Given the description of an element on the screen output the (x, y) to click on. 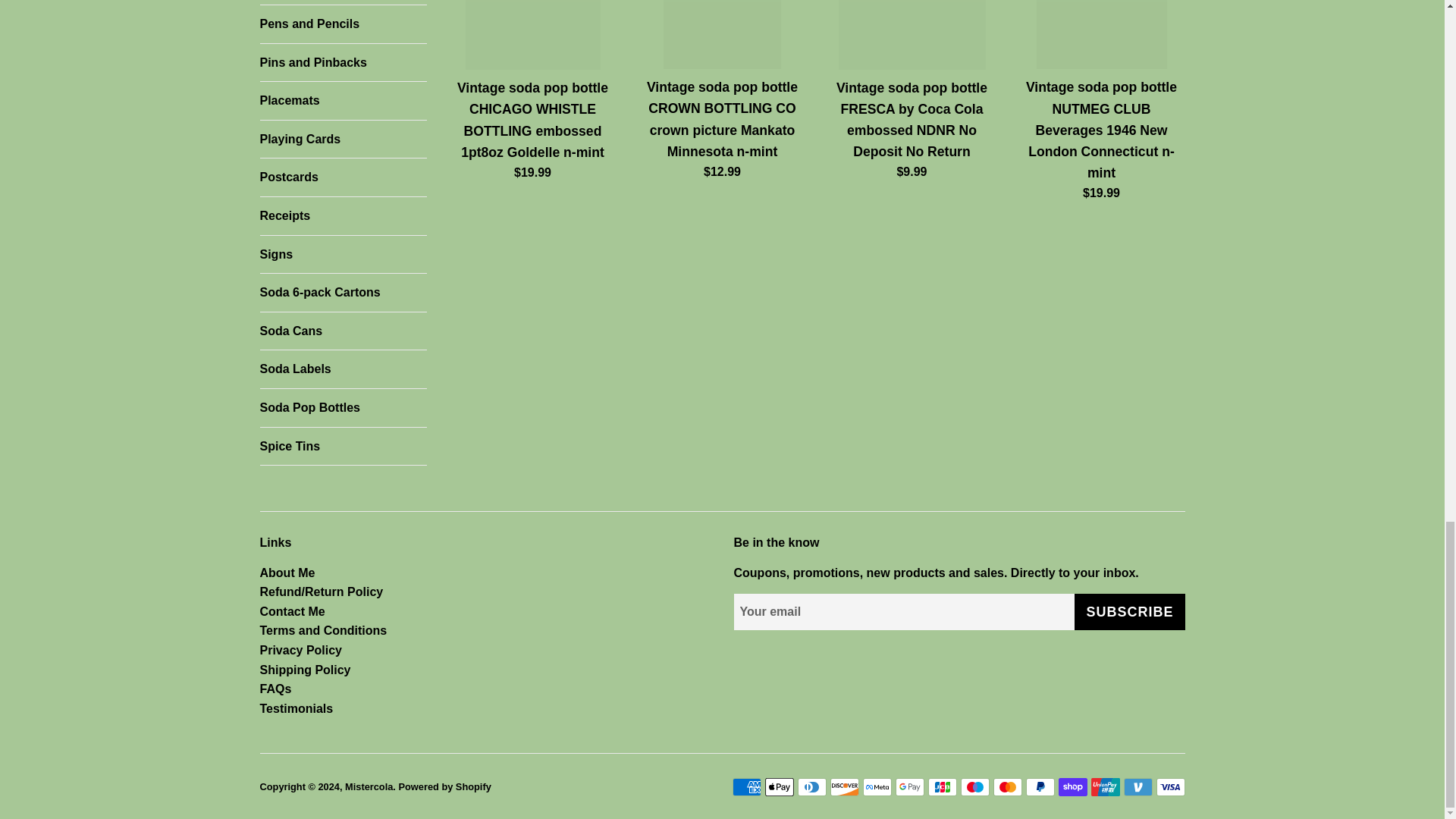
Apple Pay (778, 787)
Union Pay (1104, 787)
Venmo (1138, 787)
PayPal (1039, 787)
Visa (1170, 787)
Maestro (973, 787)
Mastercard (1007, 787)
JCB (942, 787)
Discover (844, 787)
